Given the description of an element on the screen output the (x, y) to click on. 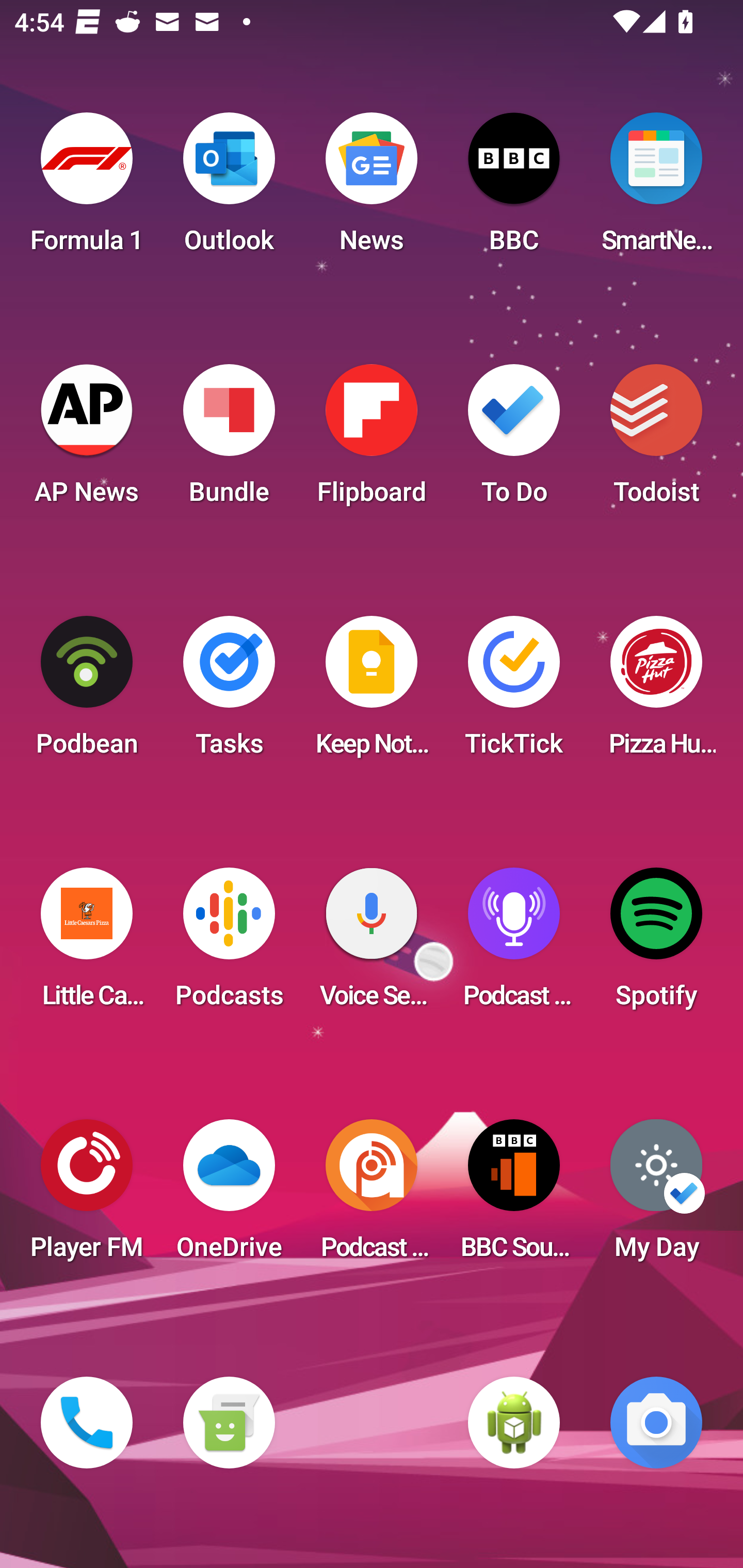
Formula 1 (86, 188)
Outlook (228, 188)
News (371, 188)
BBC (513, 188)
SmartNews (656, 188)
AP News (86, 440)
Bundle (228, 440)
Flipboard (371, 440)
To Do (513, 440)
Todoist (656, 440)
Podbean (86, 692)
Tasks (228, 692)
Keep Notes (371, 692)
TickTick (513, 692)
Pizza Hut HK & Macau (656, 692)
Little Caesars Pizza (86, 943)
Podcasts (228, 943)
Voice Search (371, 943)
Podcast Player (513, 943)
Spotify (656, 943)
Player FM (86, 1195)
OneDrive (228, 1195)
Podcast Addict (371, 1195)
BBC Sounds (513, 1195)
My Day (656, 1195)
Phone (86, 1422)
Messaging (228, 1422)
WebView Browser Tester (513, 1422)
Camera (656, 1422)
